Given the description of an element on the screen output the (x, y) to click on. 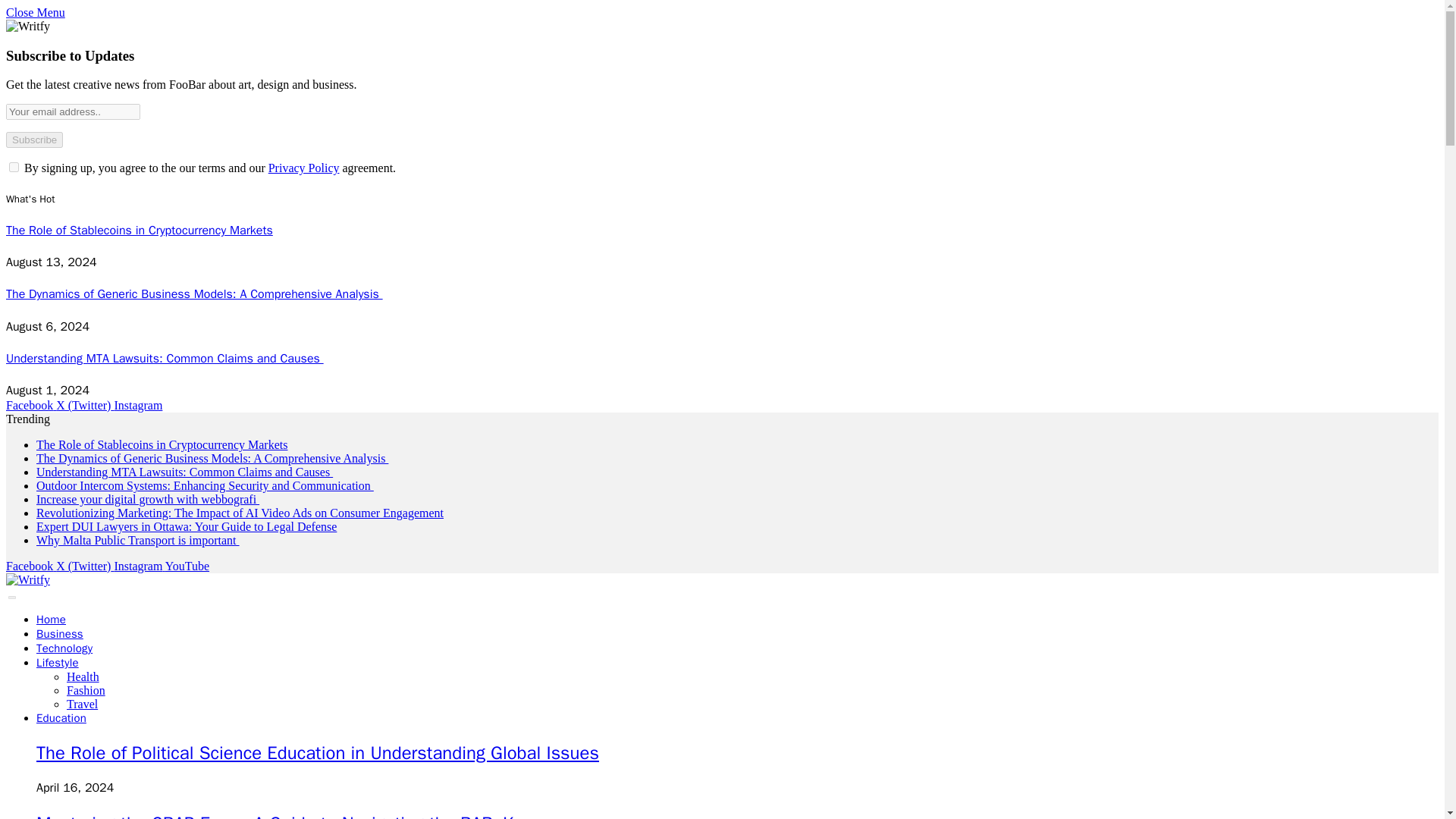
The Role of Stablecoins in Cryptocurrency Markets (139, 230)
Subscribe (33, 139)
Close Menu (35, 11)
Health (82, 676)
Technology (64, 648)
Mastering the CBAP Exam: A Guide to Navigating the BABoK (274, 815)
The Role of Stablecoins in Cryptocurrency Markets (161, 444)
Subscribe (33, 139)
